Given the description of an element on the screen output the (x, y) to click on. 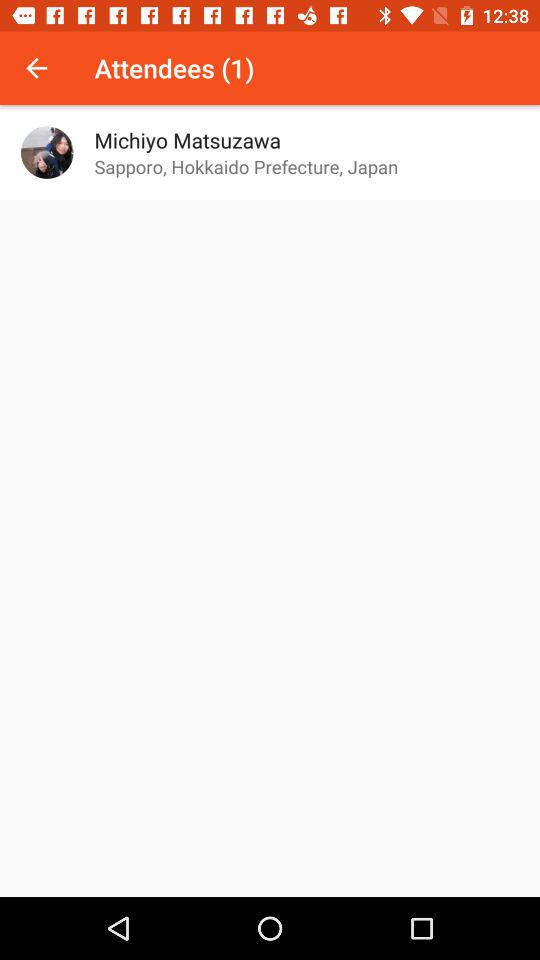
press item to the left of the attendees (1) (36, 68)
